Given the description of an element on the screen output the (x, y) to click on. 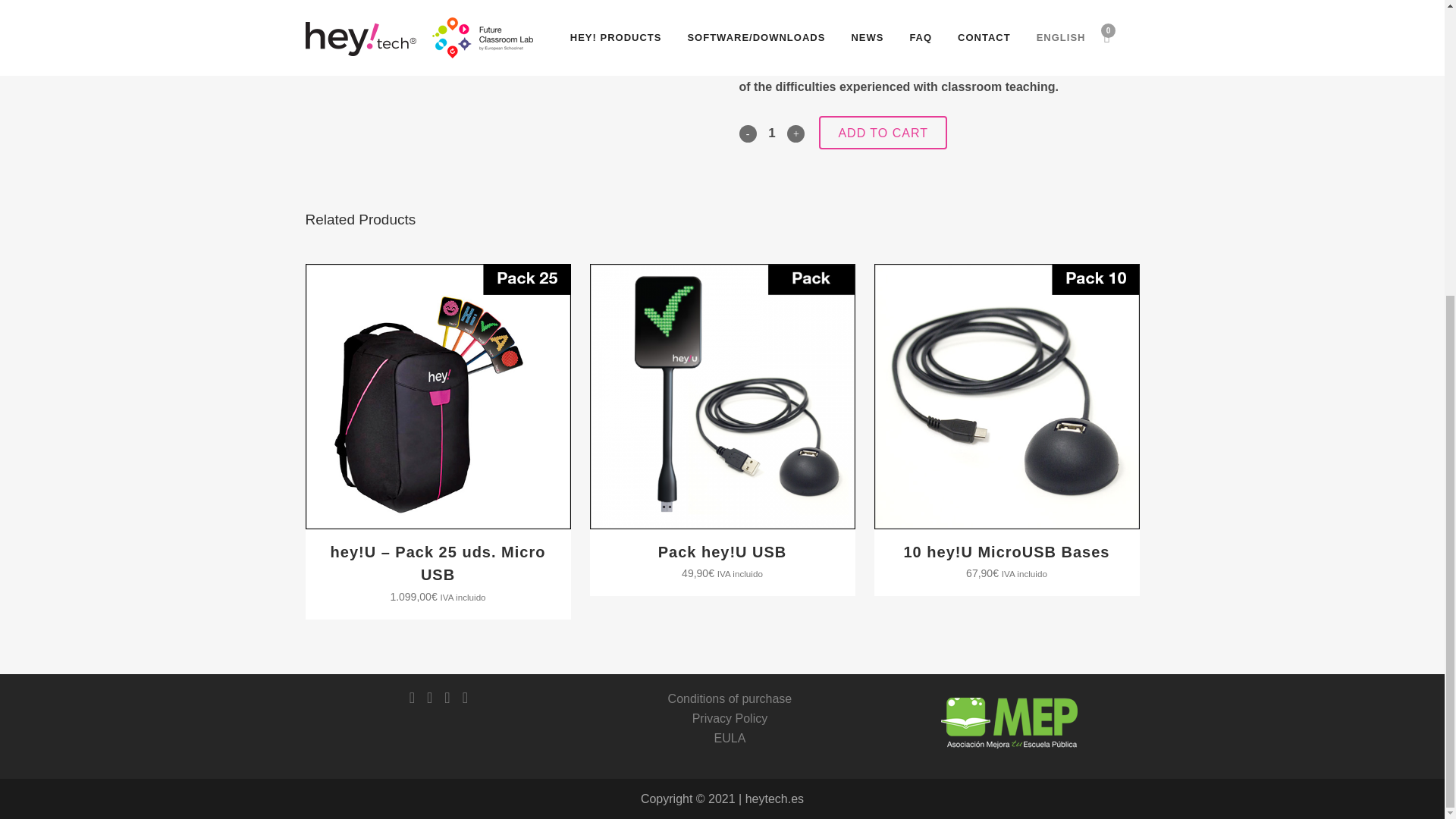
- (746, 133)
Qty (772, 133)
1 (772, 133)
ADD TO CART (882, 132)
